Given the description of an element on the screen output the (x, y) to click on. 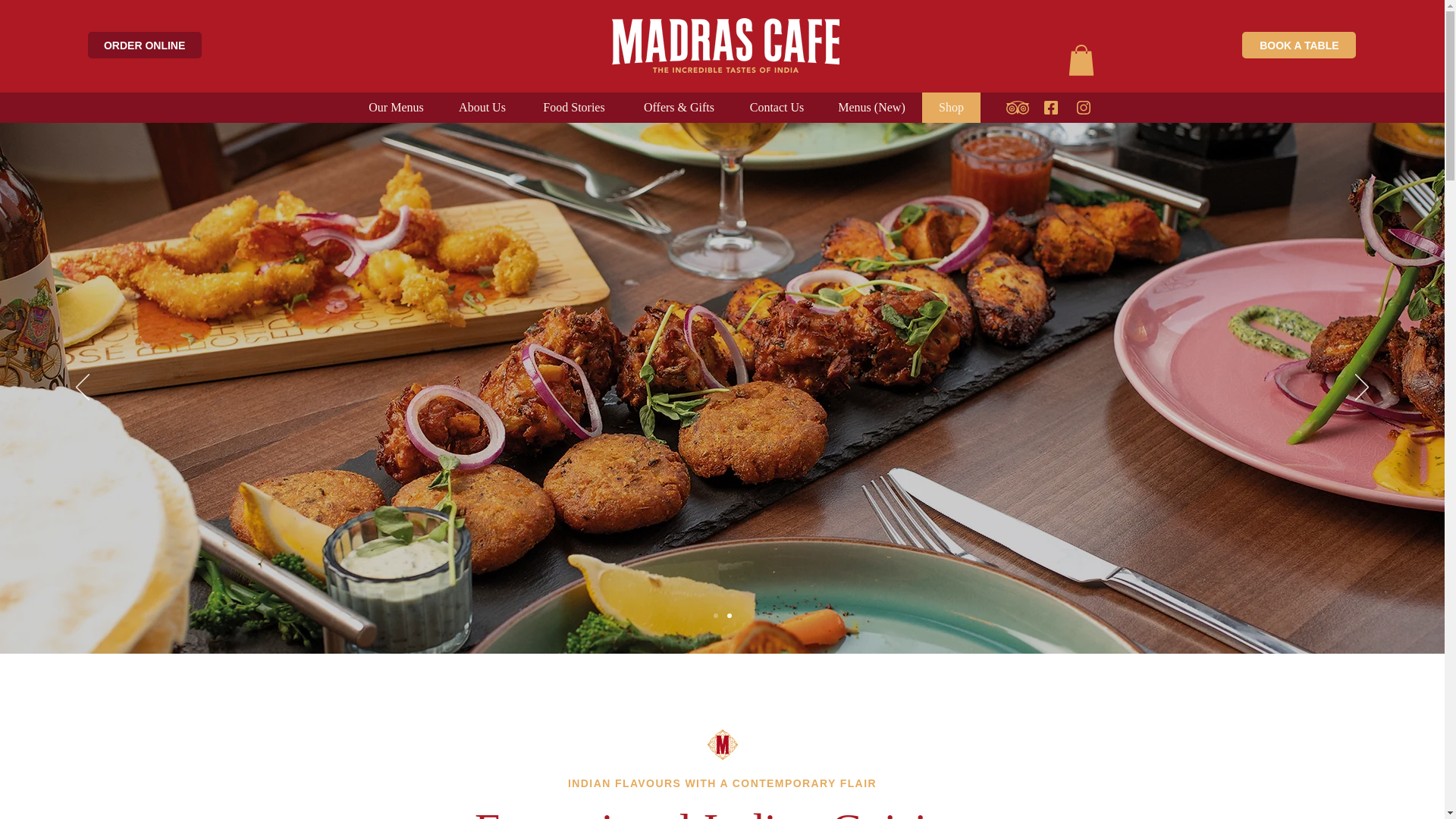
Our Menus (395, 107)
Madras-Cafe-Glasgow.png (724, 45)
BOOK A TABLE (1298, 44)
Food Stories (572, 107)
Shop (950, 107)
Contact Us (776, 107)
ORDER ONLINE (144, 44)
About Us (481, 107)
